Given the description of an element on the screen output the (x, y) to click on. 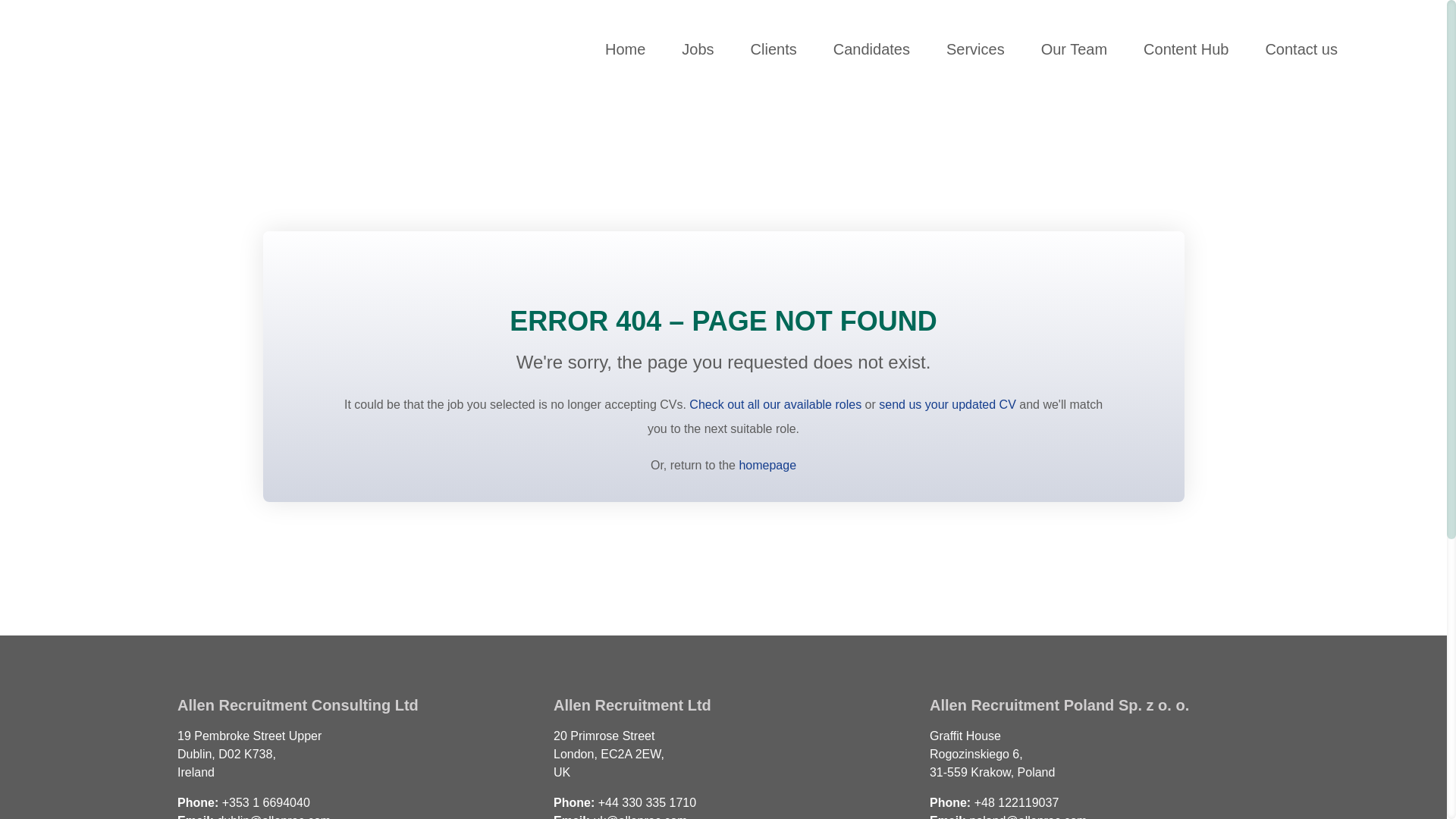
Allen Recruitment Consulting (163, 48)
Jobs (697, 48)
Clients (773, 48)
Contact us (1301, 48)
Home (625, 48)
Our Team (1073, 48)
Candidates (871, 48)
Services (975, 48)
Content Hub (1185, 48)
